Given the description of an element on the screen output the (x, y) to click on. 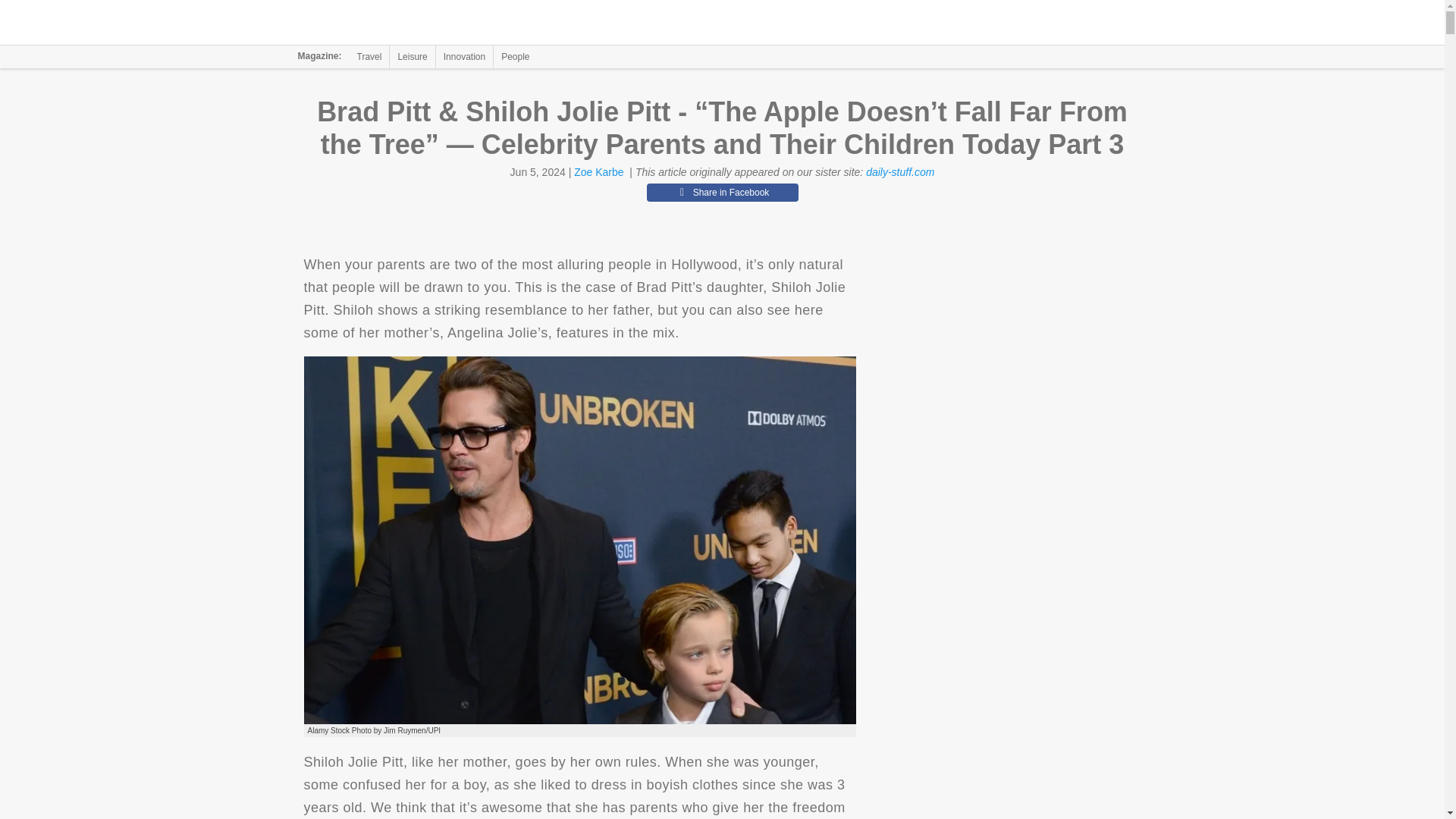
Zoe Karbe (598, 172)
Innovation (464, 56)
daily-stuff.com (900, 172)
Leisure (411, 56)
Travel (369, 56)
Share in Facebook (721, 192)
People (515, 56)
The Jerusalem Post Magazine (391, 22)
